Given the description of an element on the screen output the (x, y) to click on. 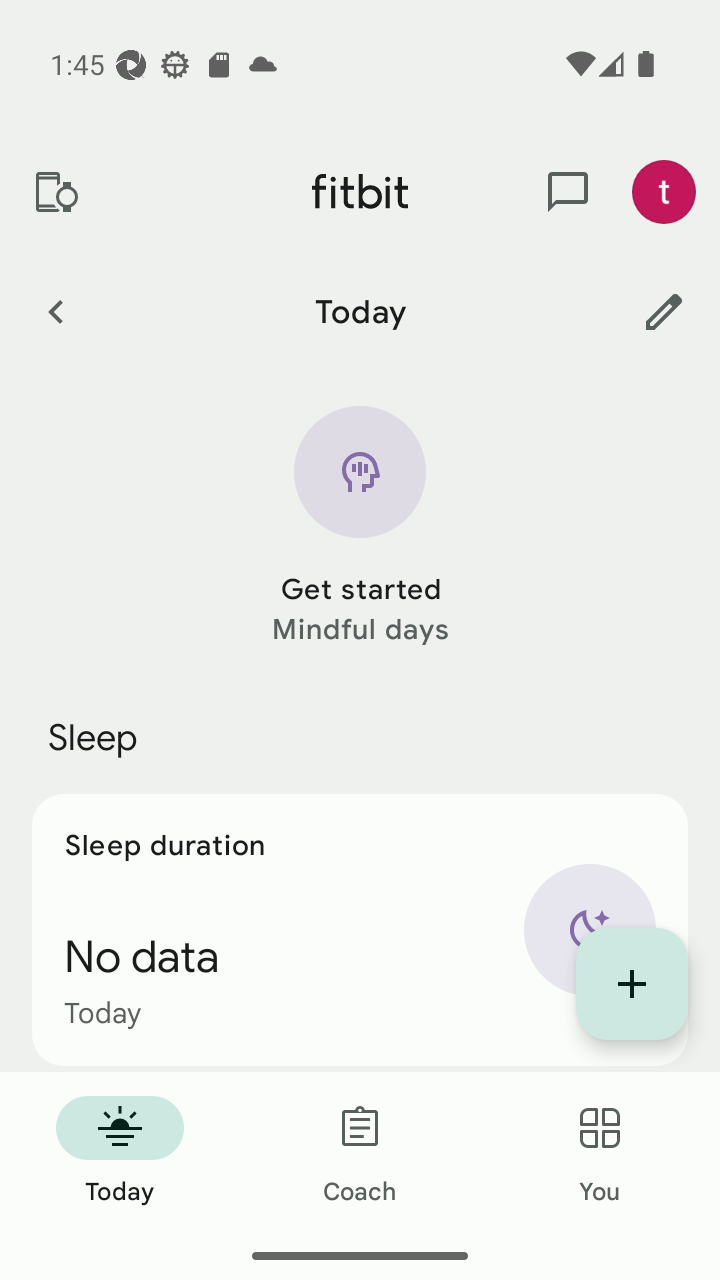
Devices and apps (55, 191)
messages and notifications (567, 191)
Previous Day (55, 311)
Customize (664, 311)
Mindfulness icon Get started Mindful days (360, 527)
Sleep duration No data Today Sleep static arc (359, 929)
Display list of quick log entries (632, 983)
Coach (359, 1151)
You (600, 1151)
